Given the description of an element on the screen output the (x, y) to click on. 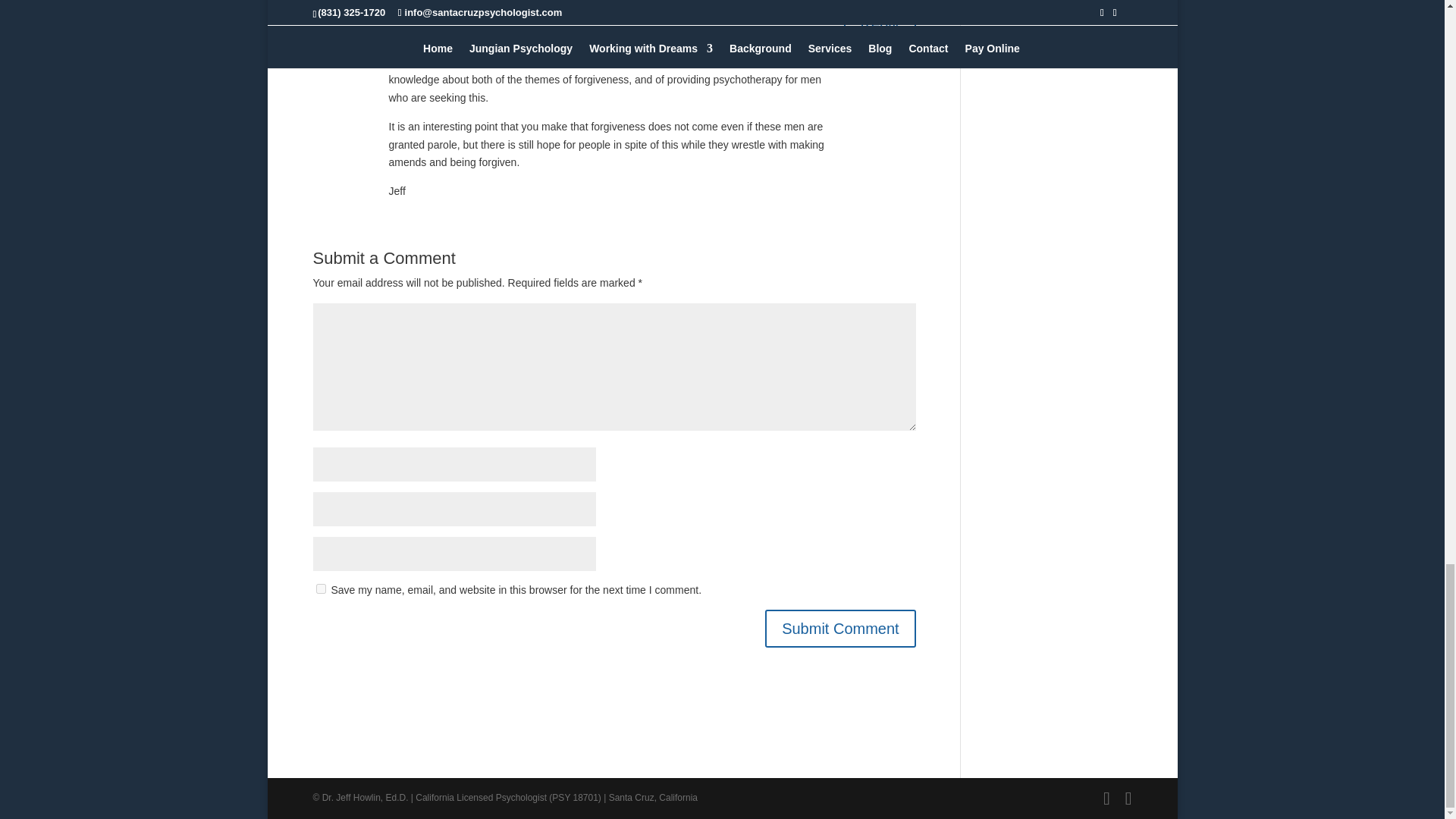
Submit Comment (840, 628)
Submit Comment (840, 628)
yes (319, 588)
Reply (879, 23)
